Given the description of an element on the screen output the (x, y) to click on. 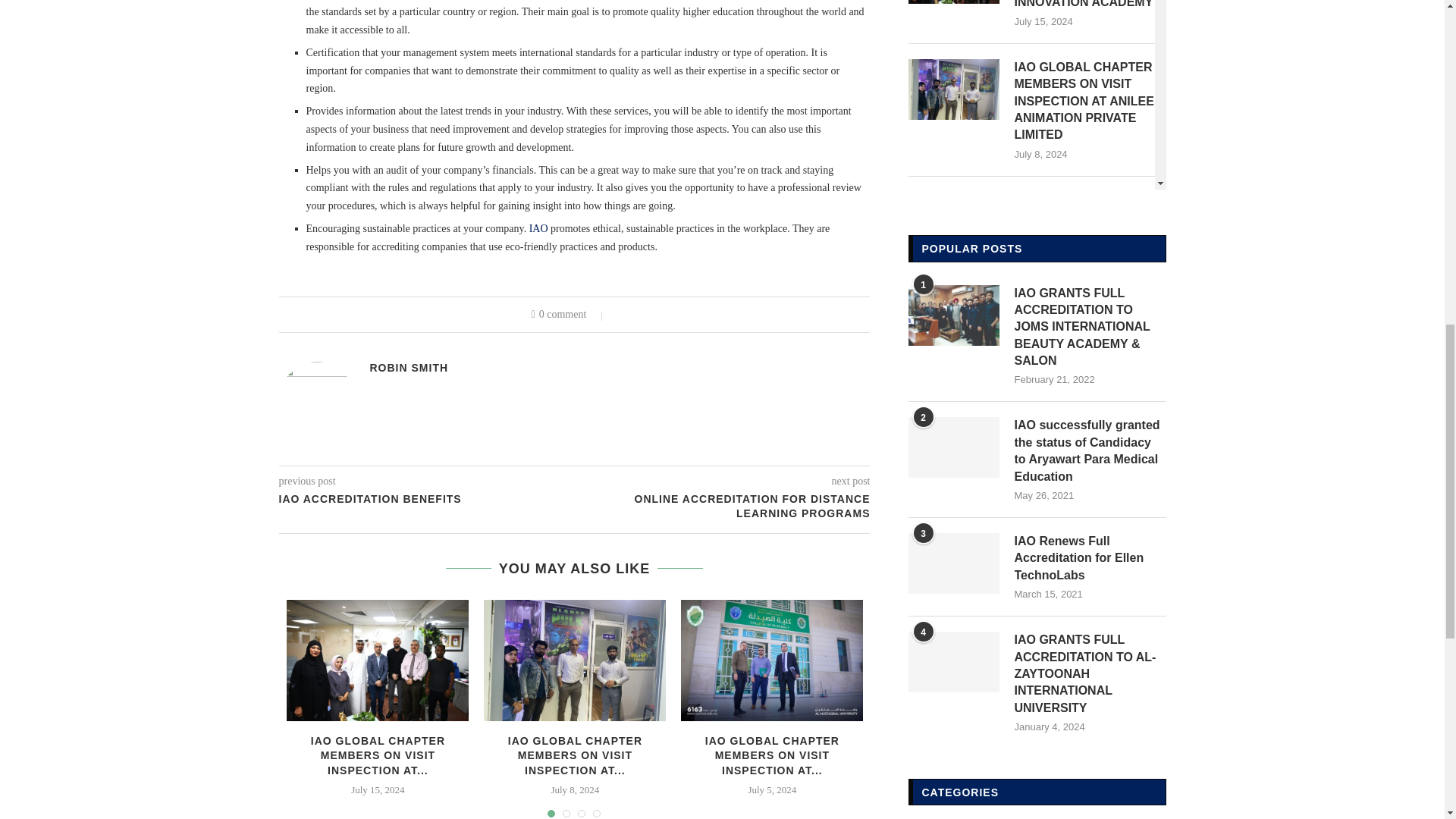
ONLINE ACCREDITATION FOR DISTANCE LEARNING PROGRAMS (722, 505)
IAO ACCREDITATION BENEFITS (427, 498)
IAO (538, 228)
ROBIN SMITH (408, 367)
Posts by Robin Smith (408, 367)
